Given the description of an element on the screen output the (x, y) to click on. 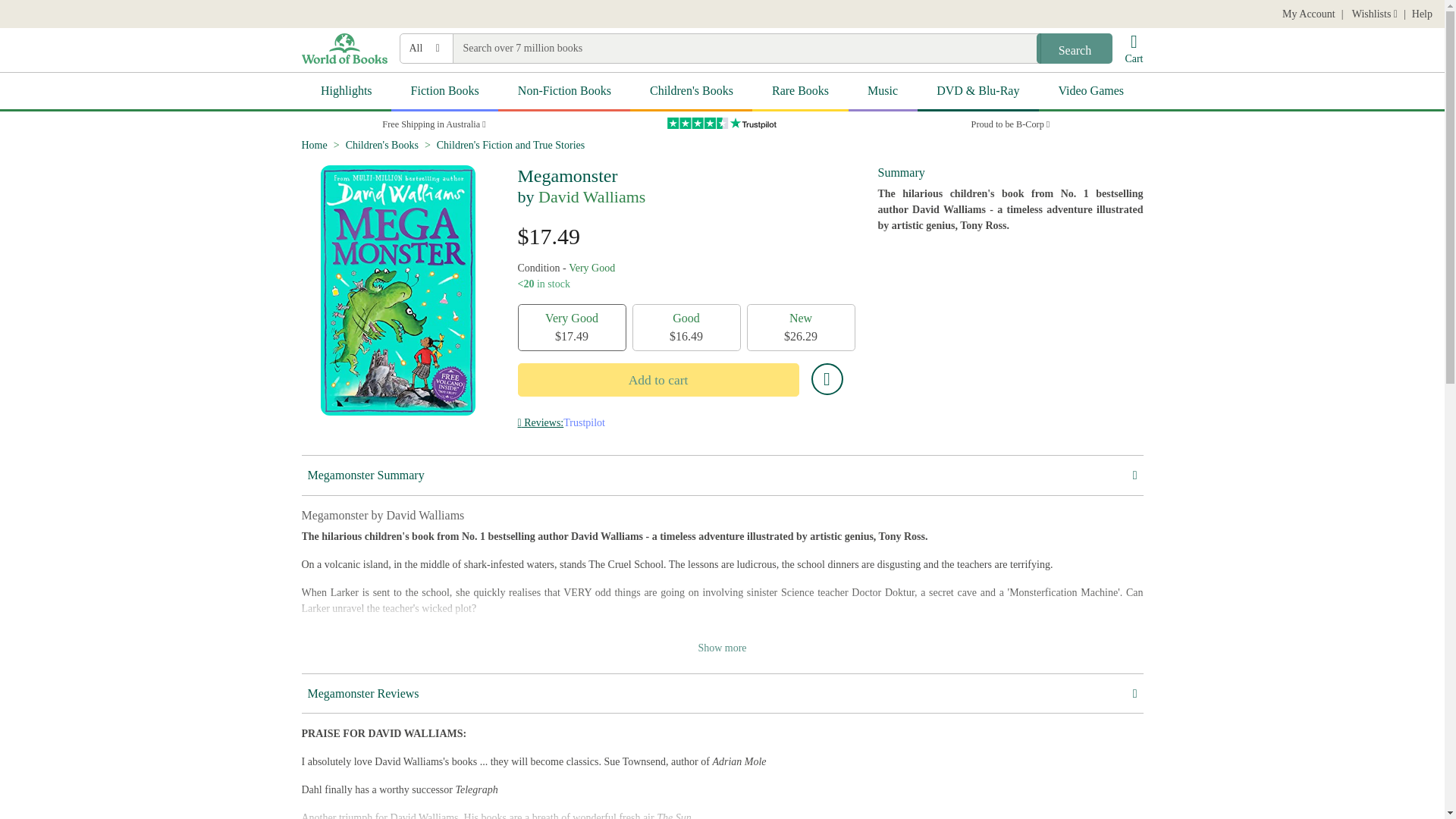
Show more (721, 647)
Search (1074, 48)
Children's Fiction and True Stories (510, 144)
Help (1422, 13)
Wishlists (1373, 13)
Trustpilot (584, 422)
Good (686, 327)
Children's Books (691, 91)
David Walliams (591, 196)
My Account (1308, 13)
